Given the description of an element on the screen output the (x, y) to click on. 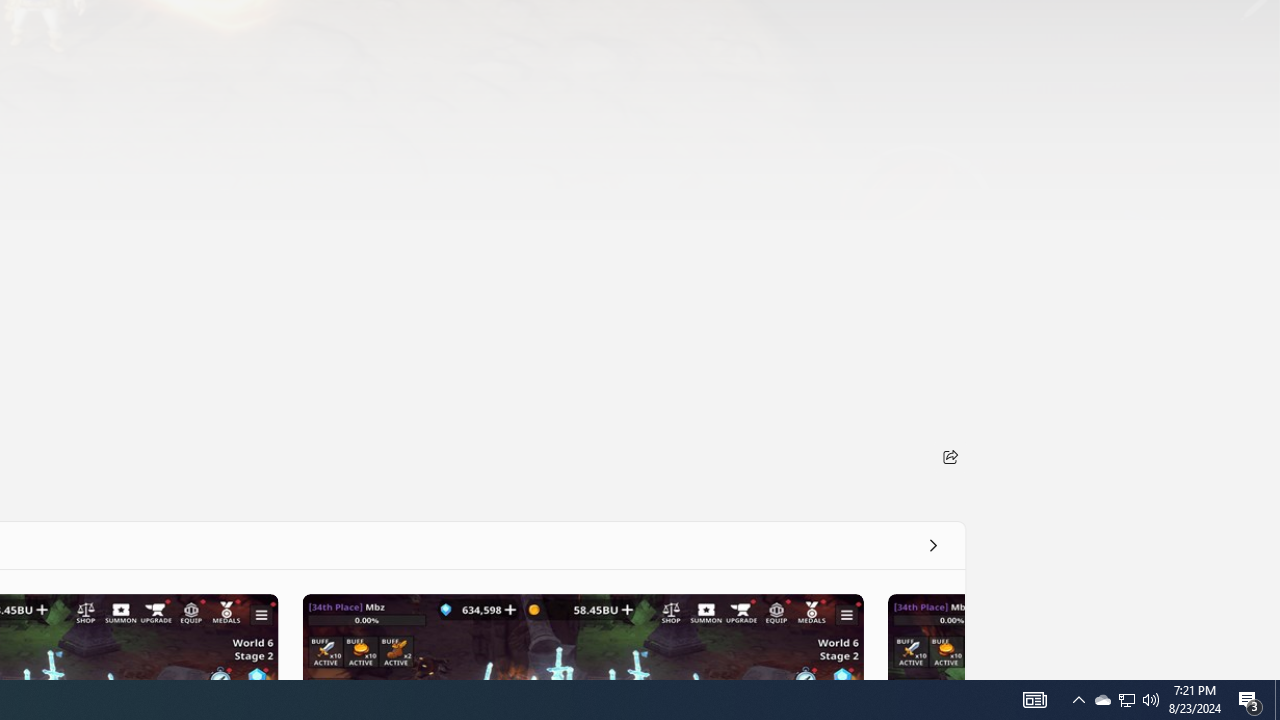
See all (932, 544)
Screenshot 4 (925, 636)
Screenshot 3 (582, 636)
Share (950, 456)
